Given the description of an element on the screen output the (x, y) to click on. 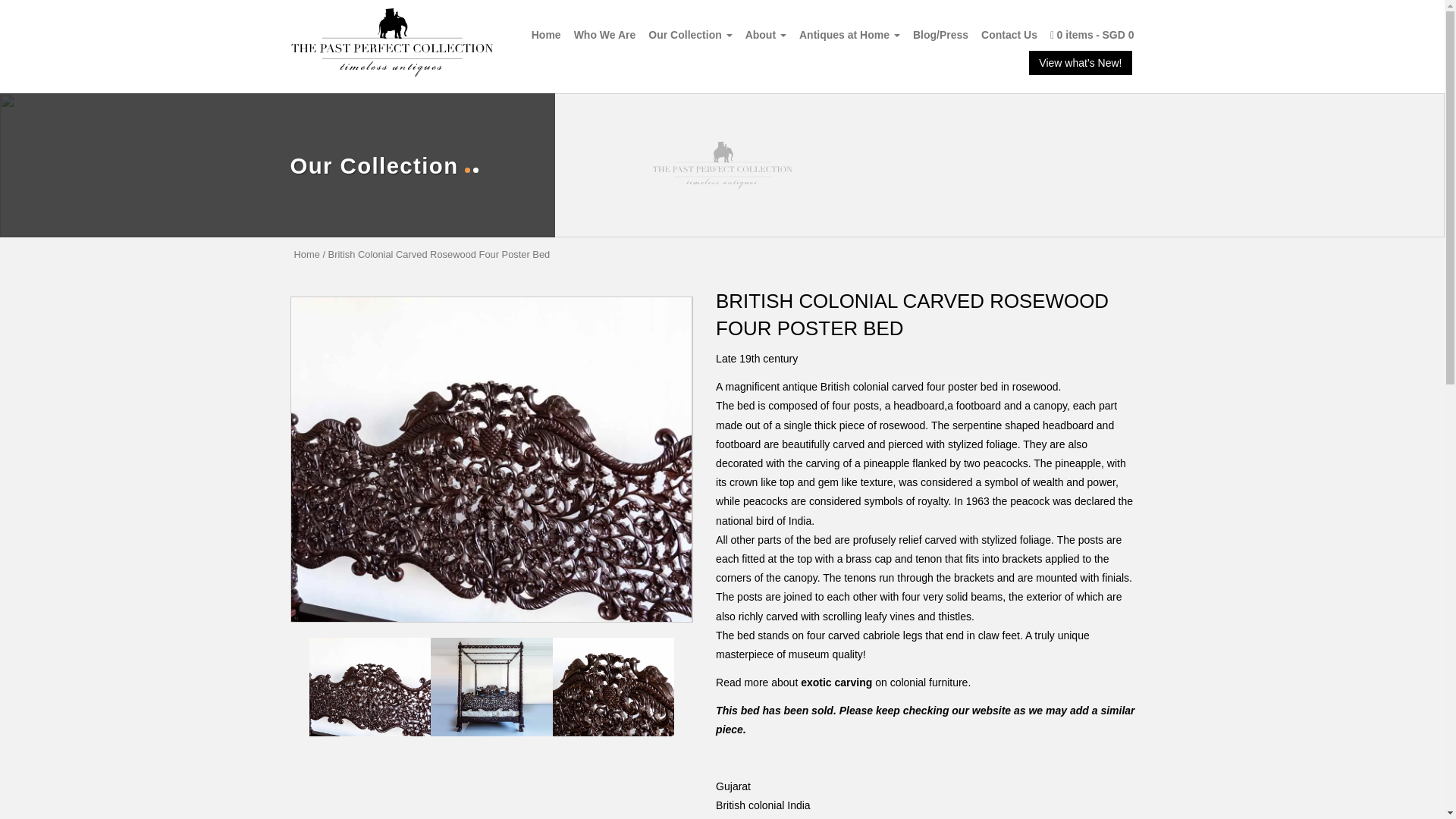
Who We Are (604, 34)
0 itemsSGD 0 (1091, 34)
Who We Are (604, 34)
Antiques at Home (849, 34)
Contact Us (1009, 34)
Home (546, 34)
About (765, 34)
exotic carving (836, 682)
Our Collection (690, 34)
Home (307, 254)
